Given the description of an element on the screen output the (x, y) to click on. 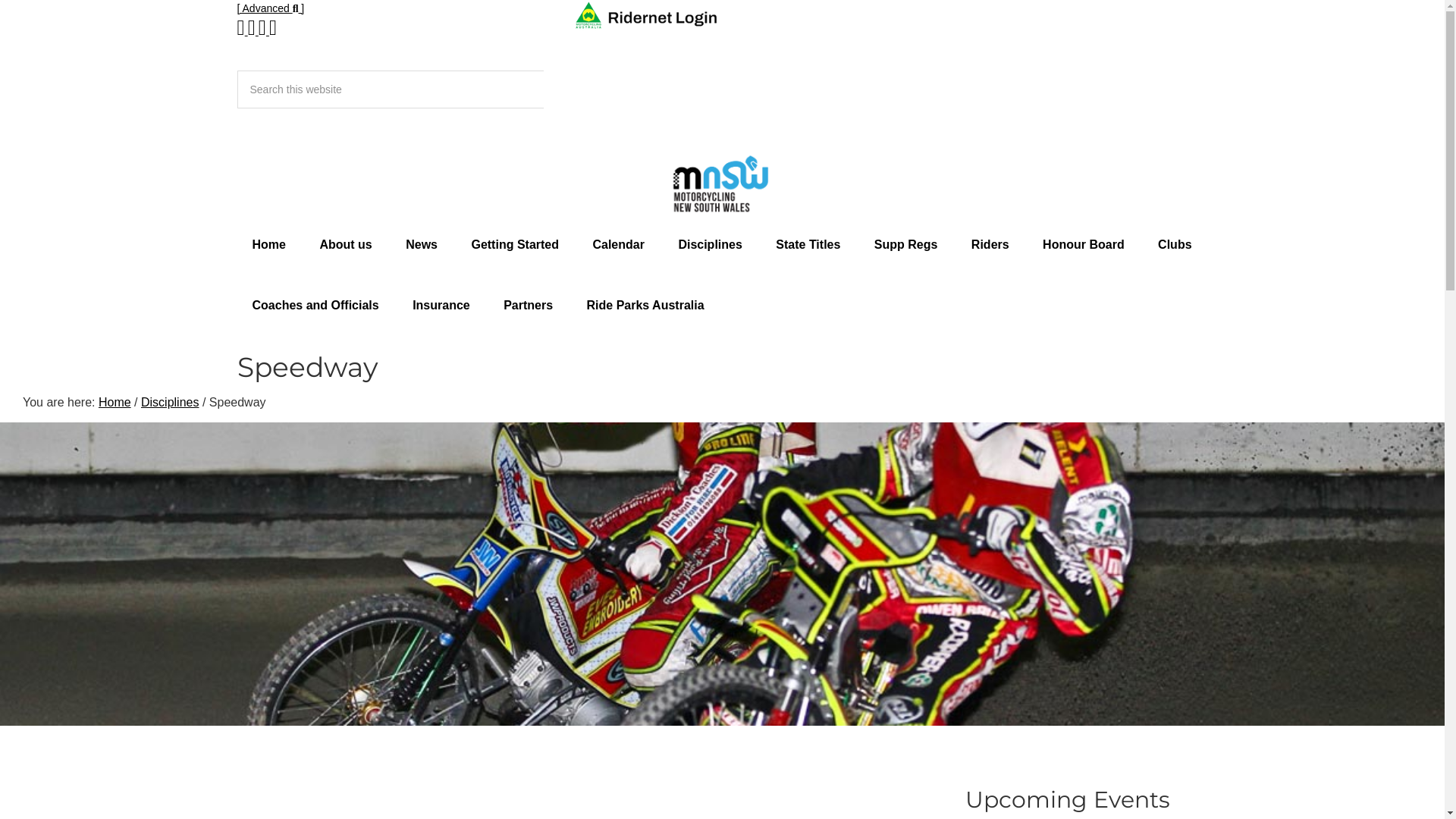
Honour Board Element type: text (1083, 243)
Supp Regs Element type: text (906, 243)
Getting Started Element type: text (514, 243)
[ Advanced ] Element type: text (270, 8)
Disciplines Element type: text (169, 401)
State Titles Element type: text (807, 243)
Partners Element type: text (527, 304)
Motorcycling NSW Element type: text (721, 183)
Calendar Element type: text (617, 243)
About us Element type: text (345, 243)
Disciplines Element type: text (709, 243)
Clubs Element type: text (1174, 243)
Coaches and Officials Element type: text (314, 304)
Search Element type: text (236, 107)
Home Element type: text (114, 401)
News Element type: text (421, 243)
Riders Element type: text (990, 243)
Ride Parks Australia Element type: text (645, 304)
Skip to primary navigation Element type: text (0, 0)
Insurance Element type: text (441, 304)
Home Element type: text (268, 243)
